Given the description of an element on the screen output the (x, y) to click on. 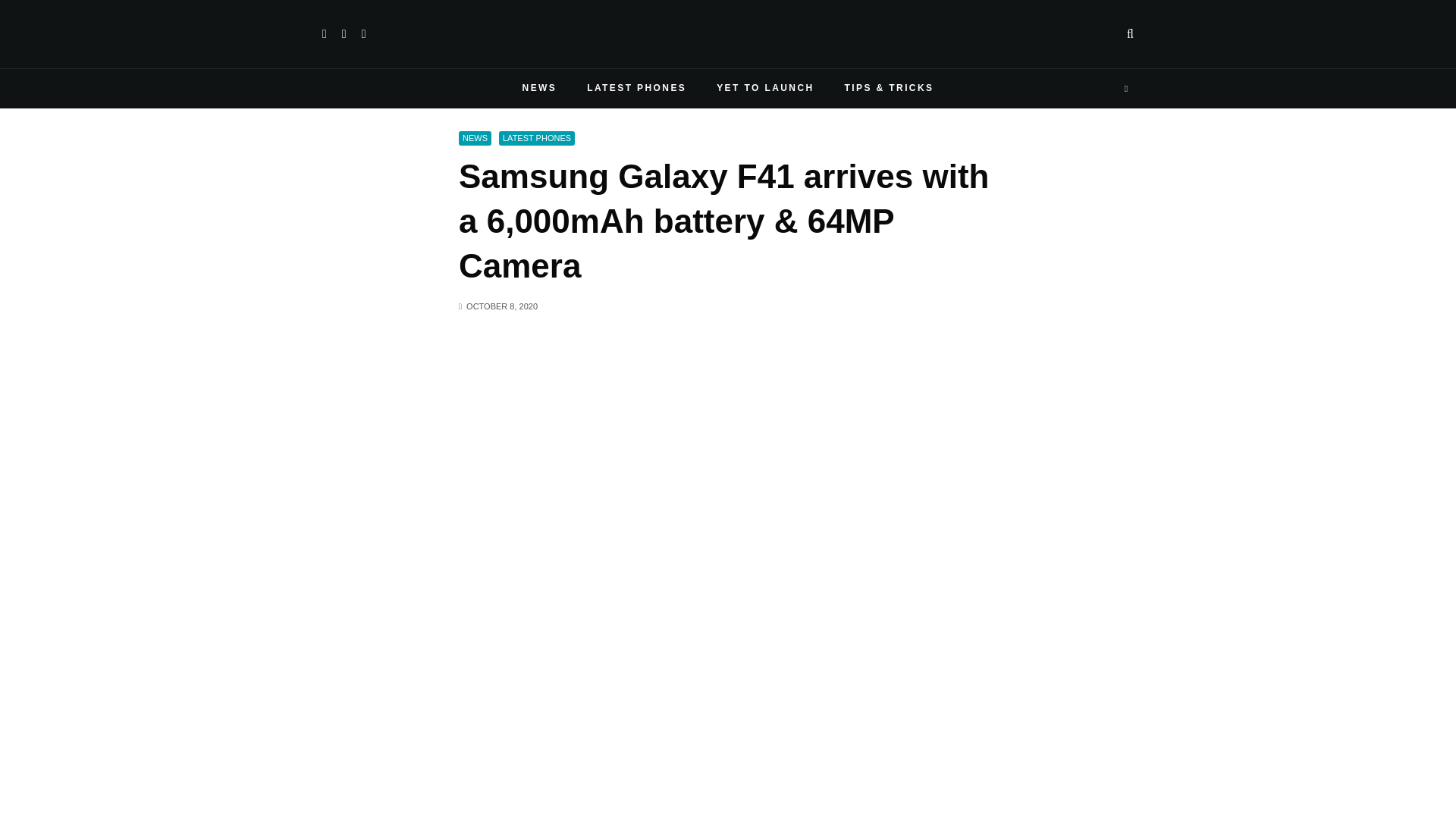
NEWS (539, 88)
YET TO LAUNCH (764, 88)
LATEST PHONES (636, 88)
